Given the description of an element on the screen output the (x, y) to click on. 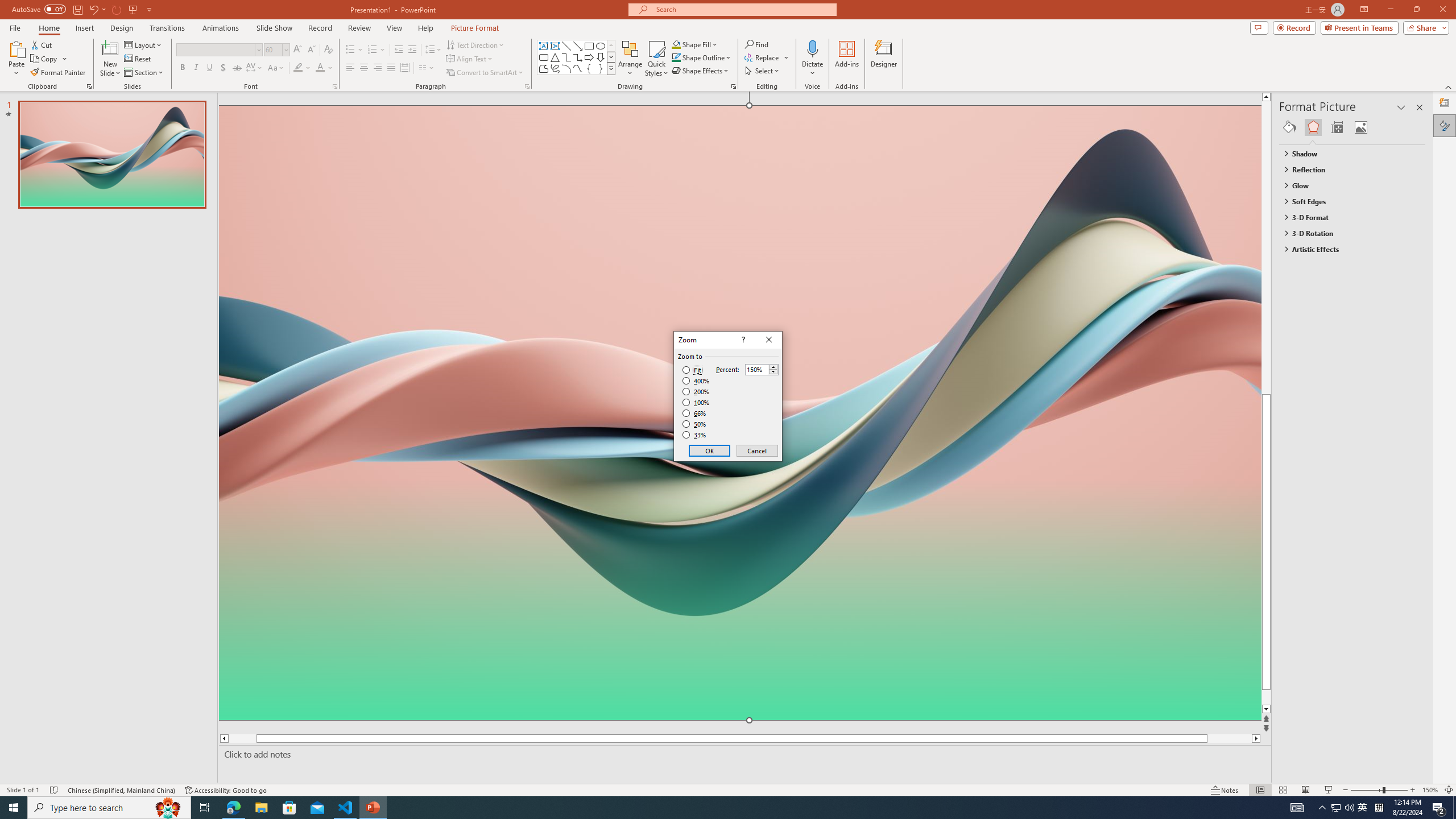
Zoom 150% (1430, 790)
